Given the description of an element on the screen output the (x, y) to click on. 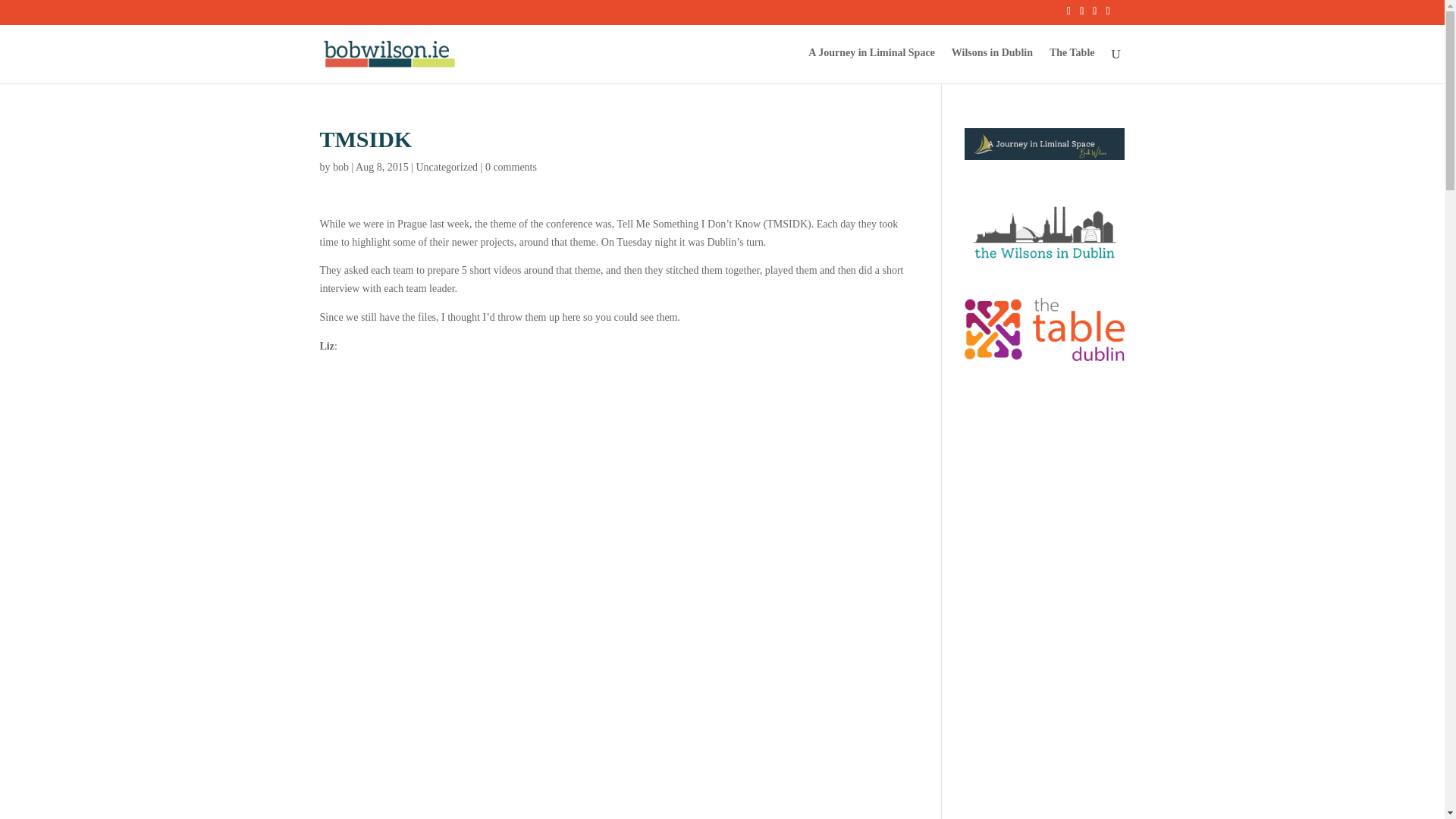
Wilsons in Dublin (992, 65)
bob (341, 166)
0 comments (510, 166)
Posts by bob (341, 166)
A Journey in Liminal Space (871, 65)
The Table (1071, 65)
Uncategorized (445, 166)
